Given the description of an element on the screen output the (x, y) to click on. 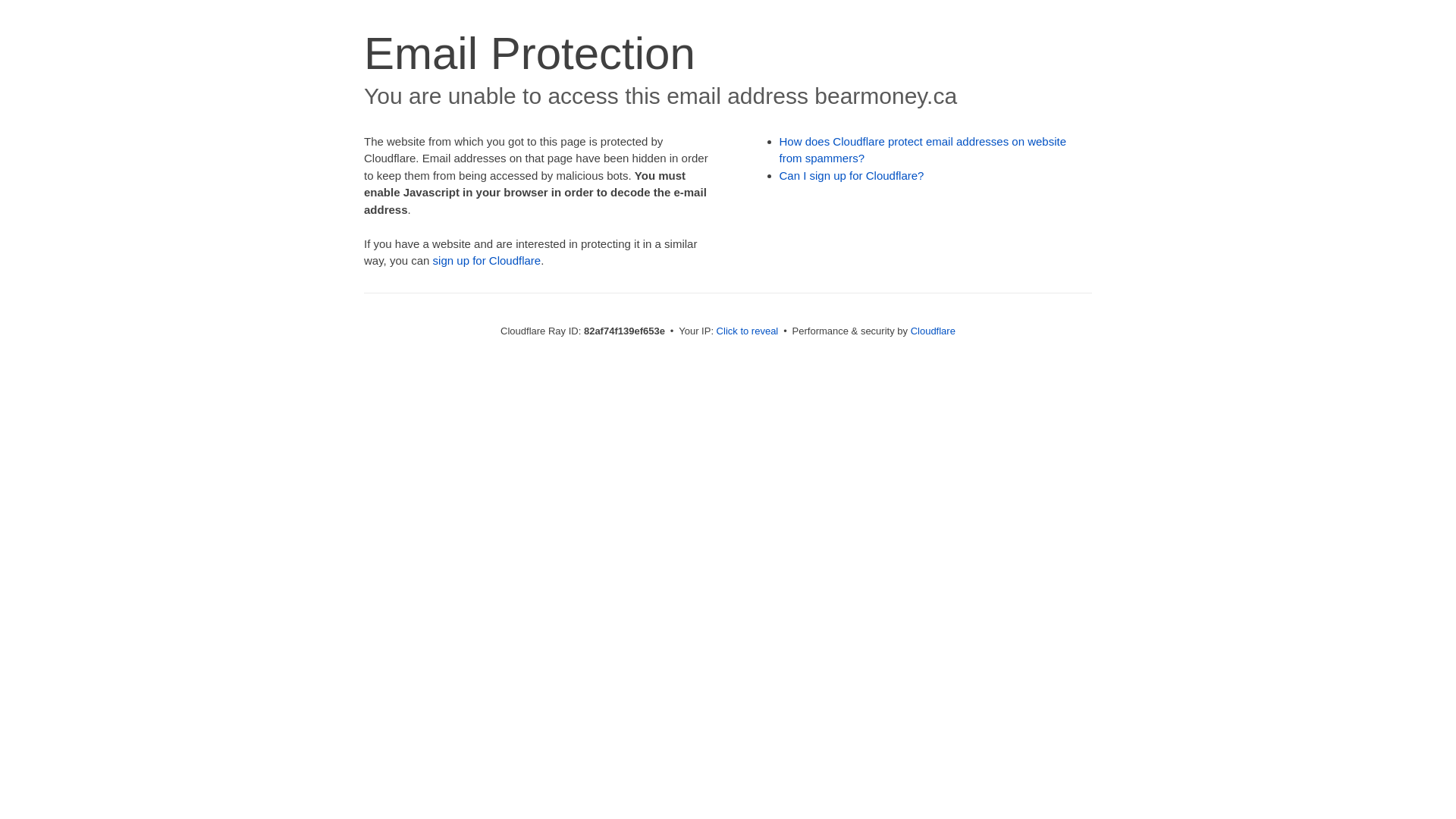
Can I sign up for Cloudflare? Element type: text (851, 175)
Cloudflare Element type: text (932, 330)
Click to reveal Element type: text (747, 330)
sign up for Cloudflare Element type: text (487, 260)
